Given the description of an element on the screen output the (x, y) to click on. 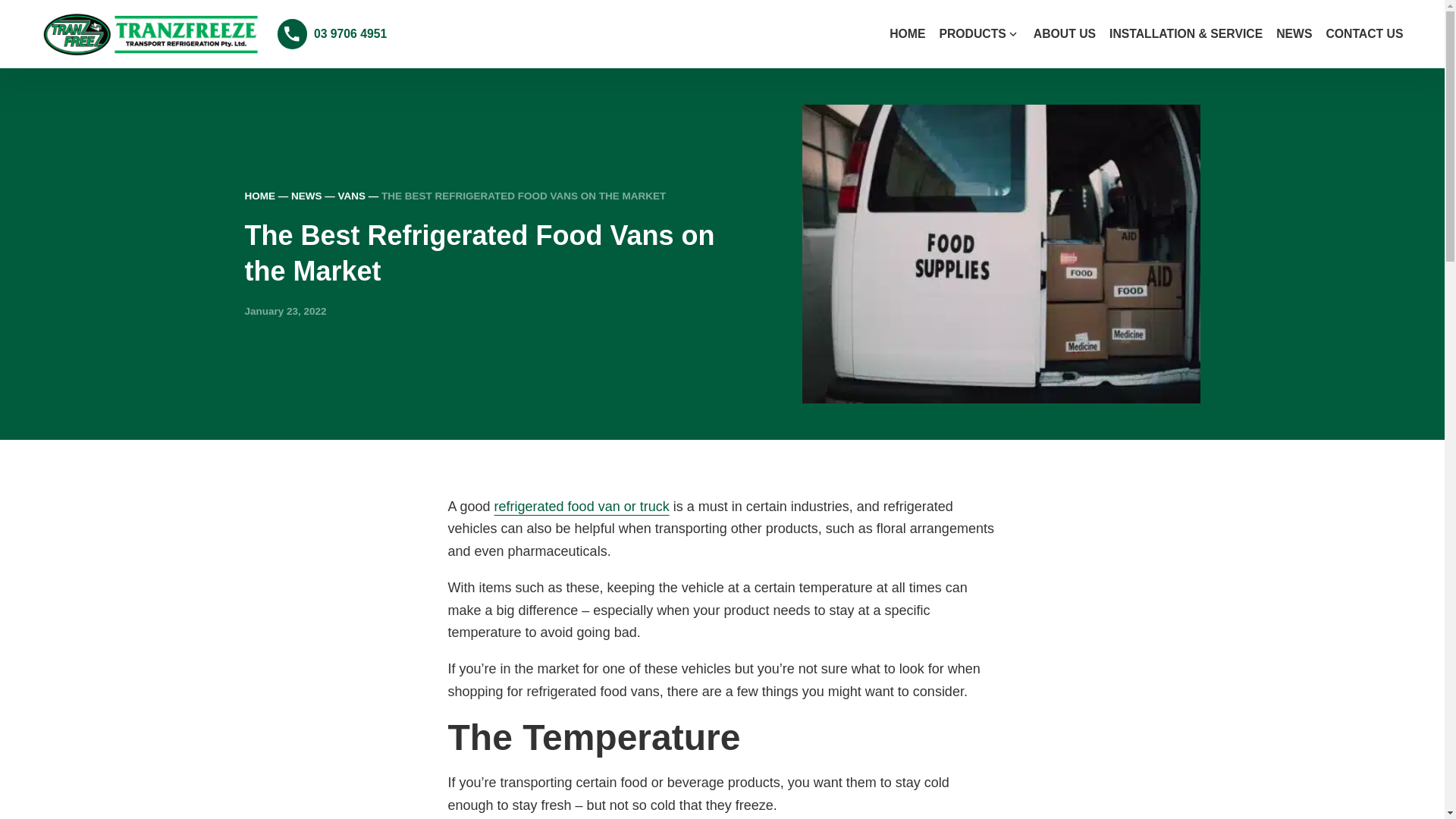
NEWS (306, 195)
PRODUCTS (972, 33)
ABOUT US (1064, 33)
03 9706 4951 (332, 33)
VANS (351, 195)
HOME (259, 195)
refrigerated food van or truck (582, 506)
CONTACT US (1363, 33)
